Given the description of an element on the screen output the (x, y) to click on. 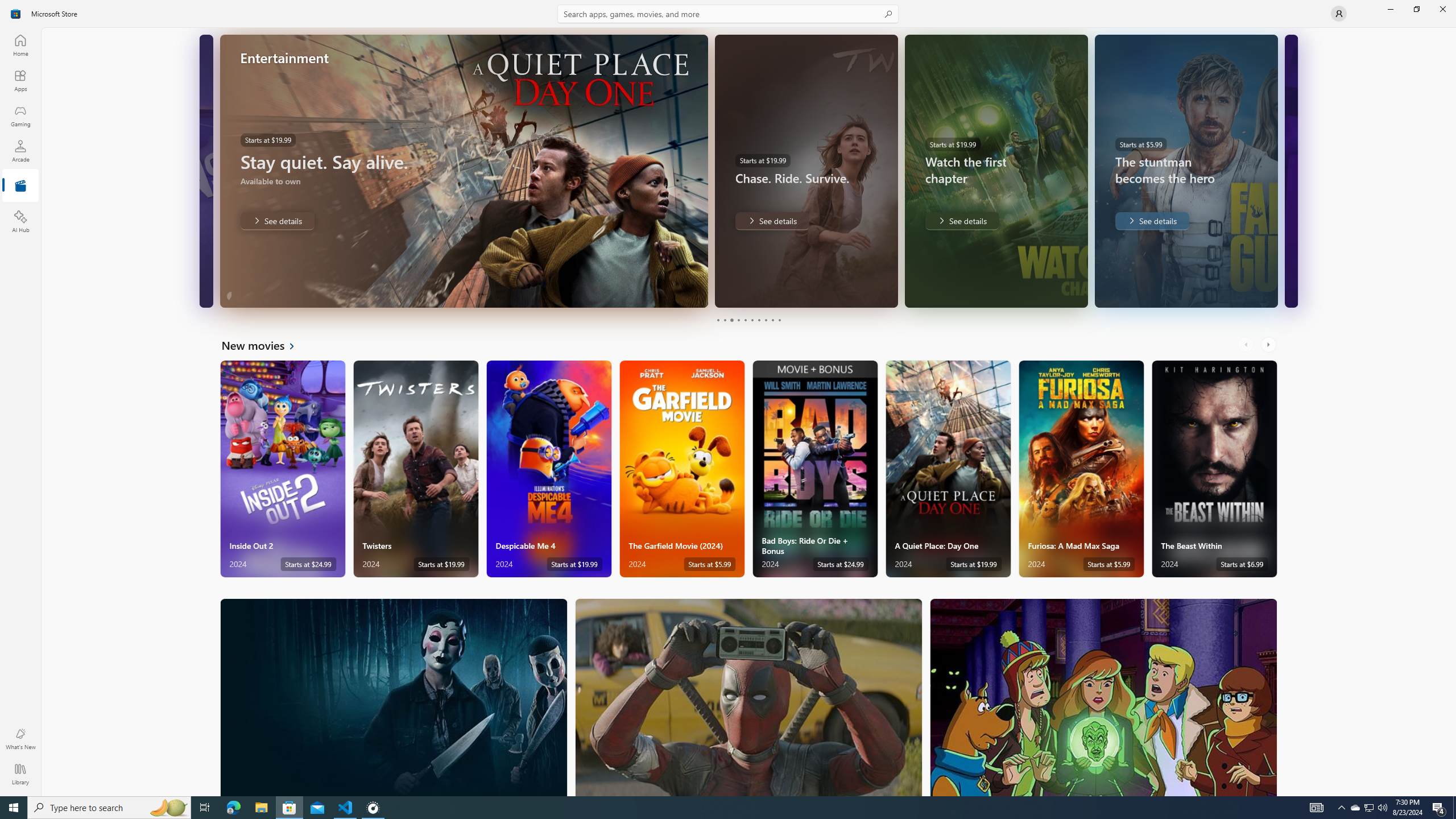
Search (727, 13)
Family (1102, 697)
Page 5 (744, 319)
Bad Boys: Ride Or Die + Bonus. Starts at $24.99   (814, 469)
Action & Adventure (749, 697)
Horror (393, 697)
Page 1 (717, 319)
The Garfield Movie (2024). Starts at $5.99   (681, 469)
Page 2 (724, 319)
